Given the description of an element on the screen output the (x, y) to click on. 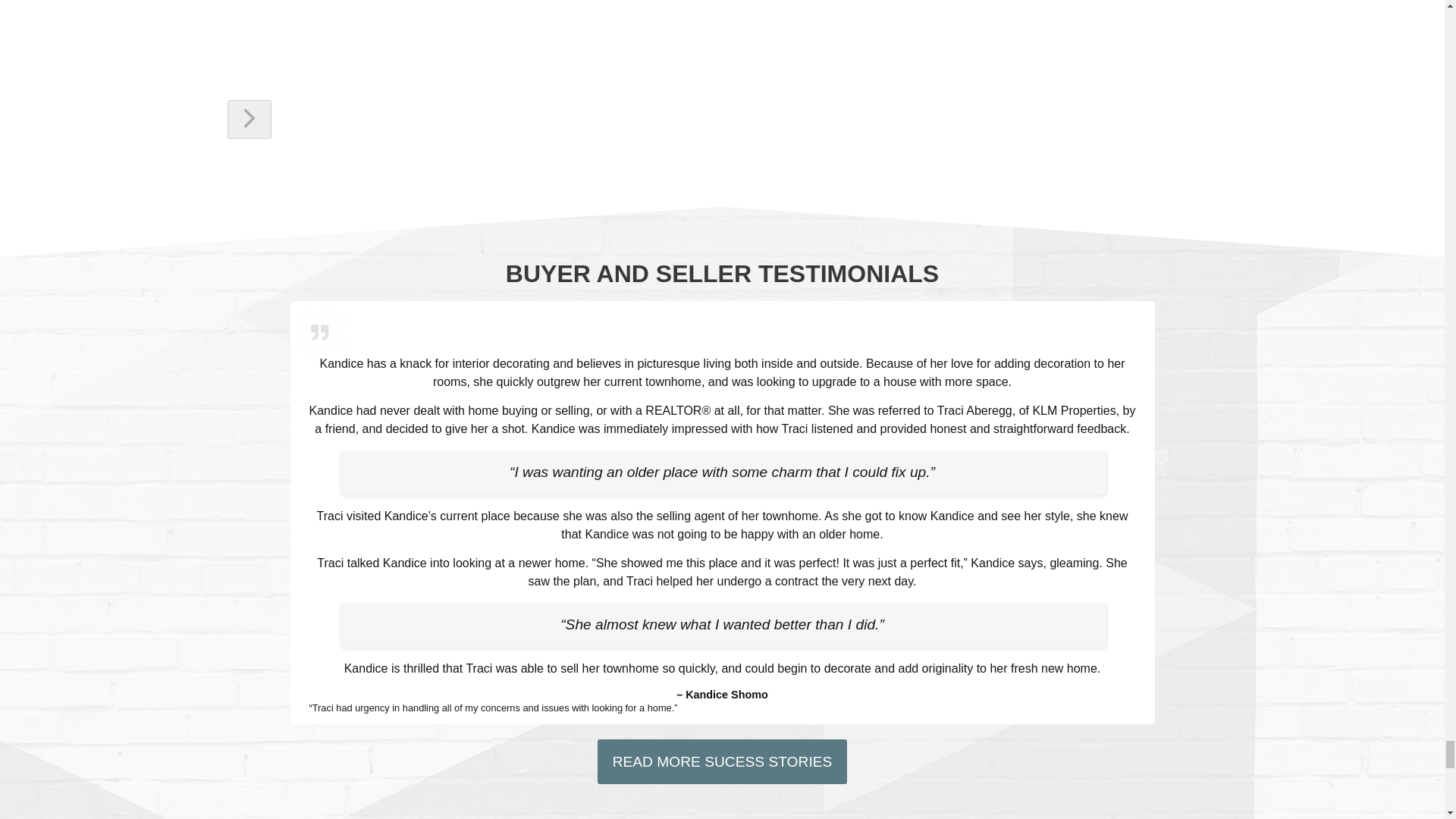
KLM Properties, Inc. 23 (321, 331)
